Given the description of an element on the screen output the (x, y) to click on. 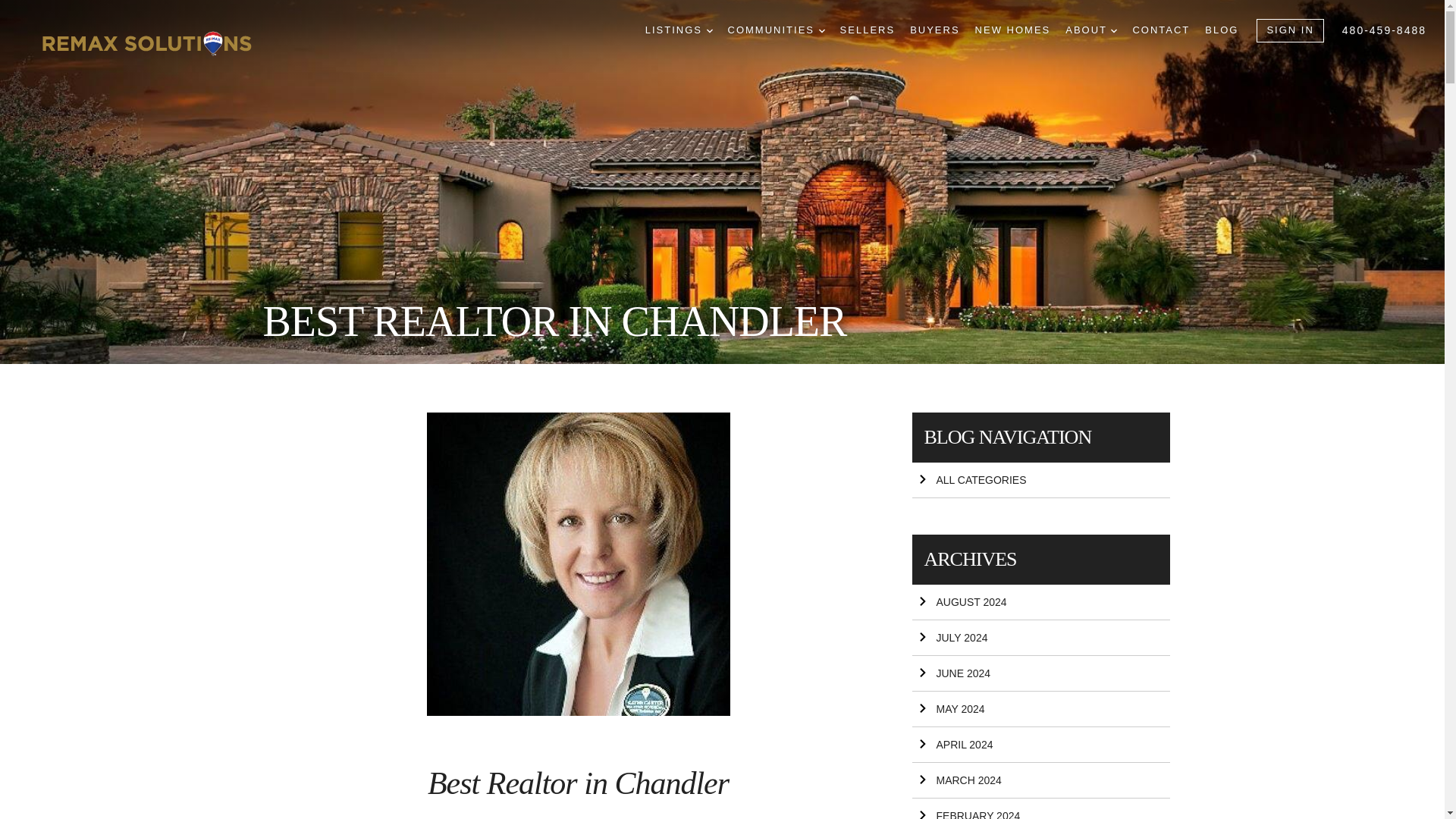
ABOUT DROPDOWN ARROW (1090, 30)
NEW HOMES (1013, 30)
DROPDOWN ARROW (821, 30)
SELLERS (867, 30)
SIGN IN (1289, 30)
BLOG (1222, 30)
DROPDOWN ARROW (709, 30)
480-459-8488 (1384, 29)
DROPDOWN ARROW (1113, 30)
BUYERS (934, 30)
